Given the description of an element on the screen output the (x, y) to click on. 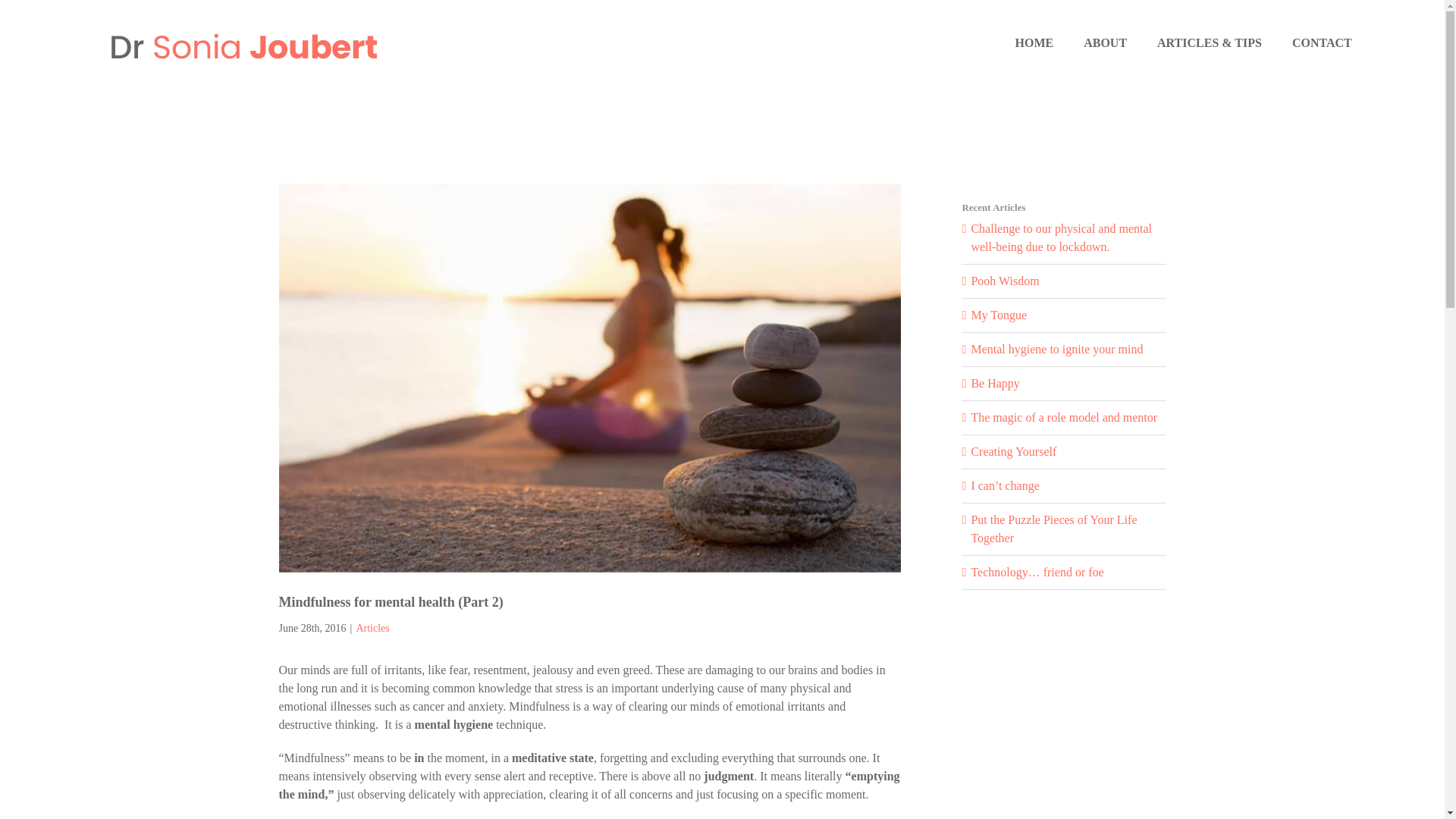
Articles (371, 627)
